Given the description of an element on the screen output the (x, y) to click on. 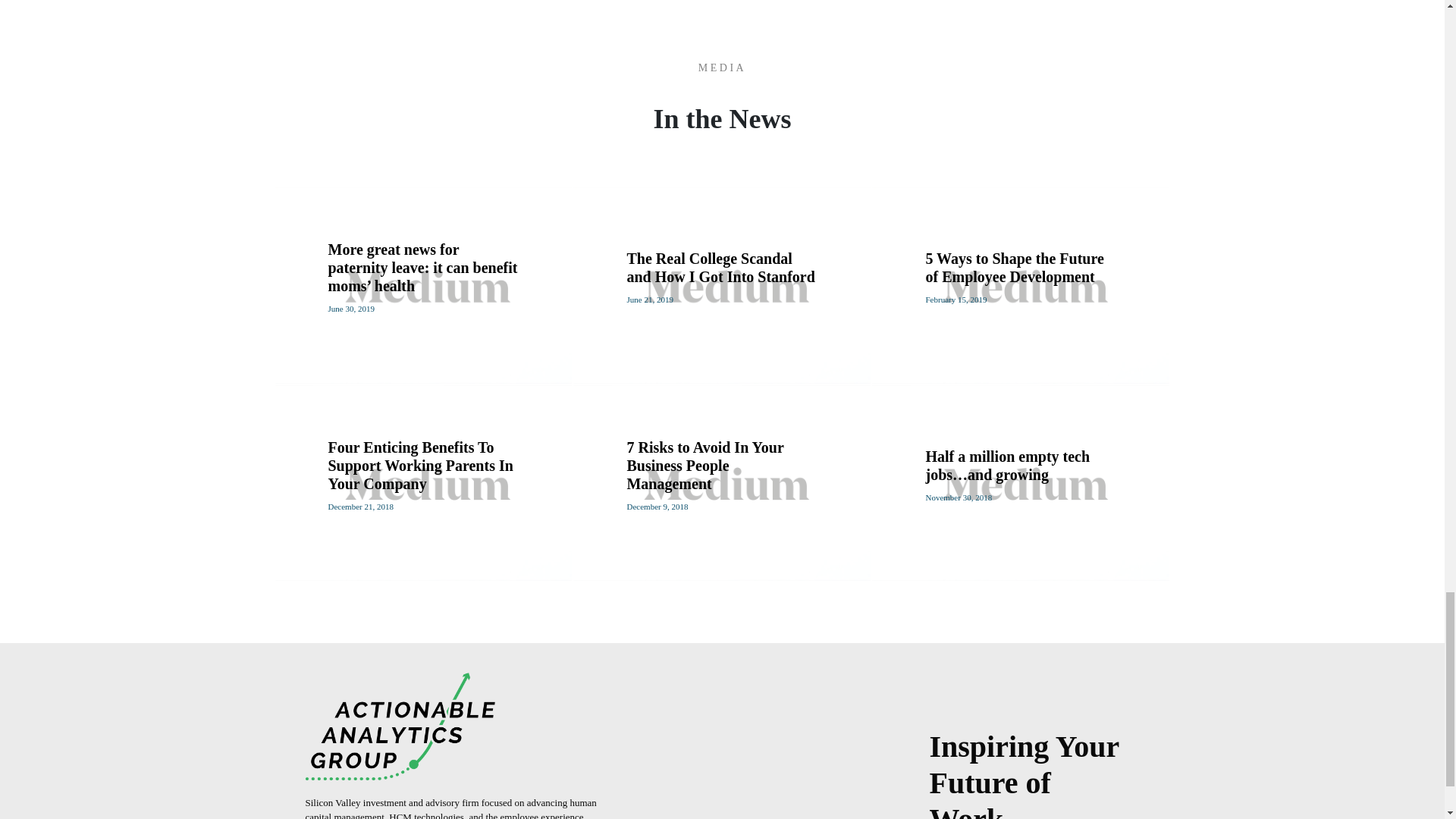
7 Risks to Avoid In Your Business People Management (704, 465)
February 15, 2019 (955, 298)
5 Ways to Shape the Future of Employee Development (1013, 267)
June 30, 2019 (350, 307)
The Real College Scandal and How I Got Into Stanford (719, 267)
November 30, 2018 (957, 497)
June 21, 2019 (649, 298)
December 21, 2018 (360, 506)
December 9, 2018 (656, 506)
